Given the description of an element on the screen output the (x, y) to click on. 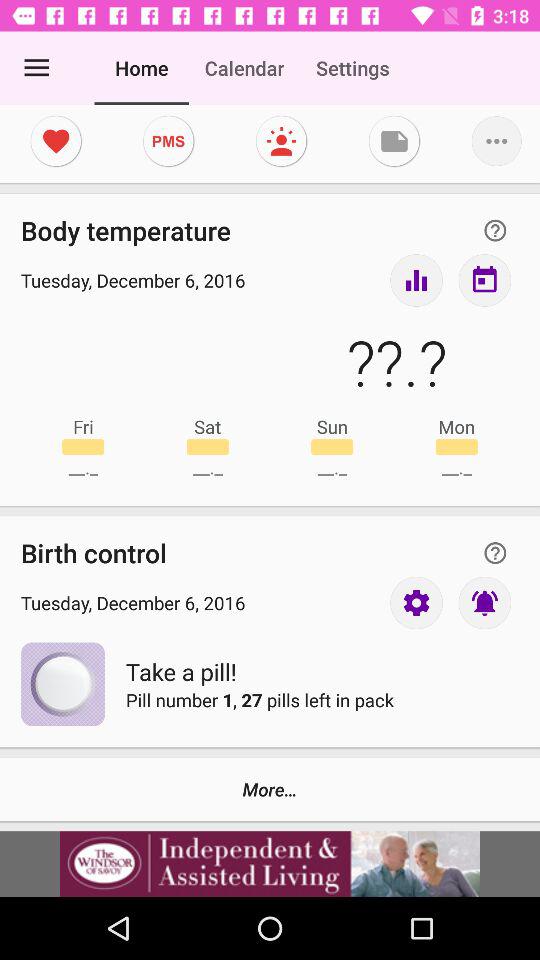
go to pms (168, 141)
